Given the description of an element on the screen output the (x, y) to click on. 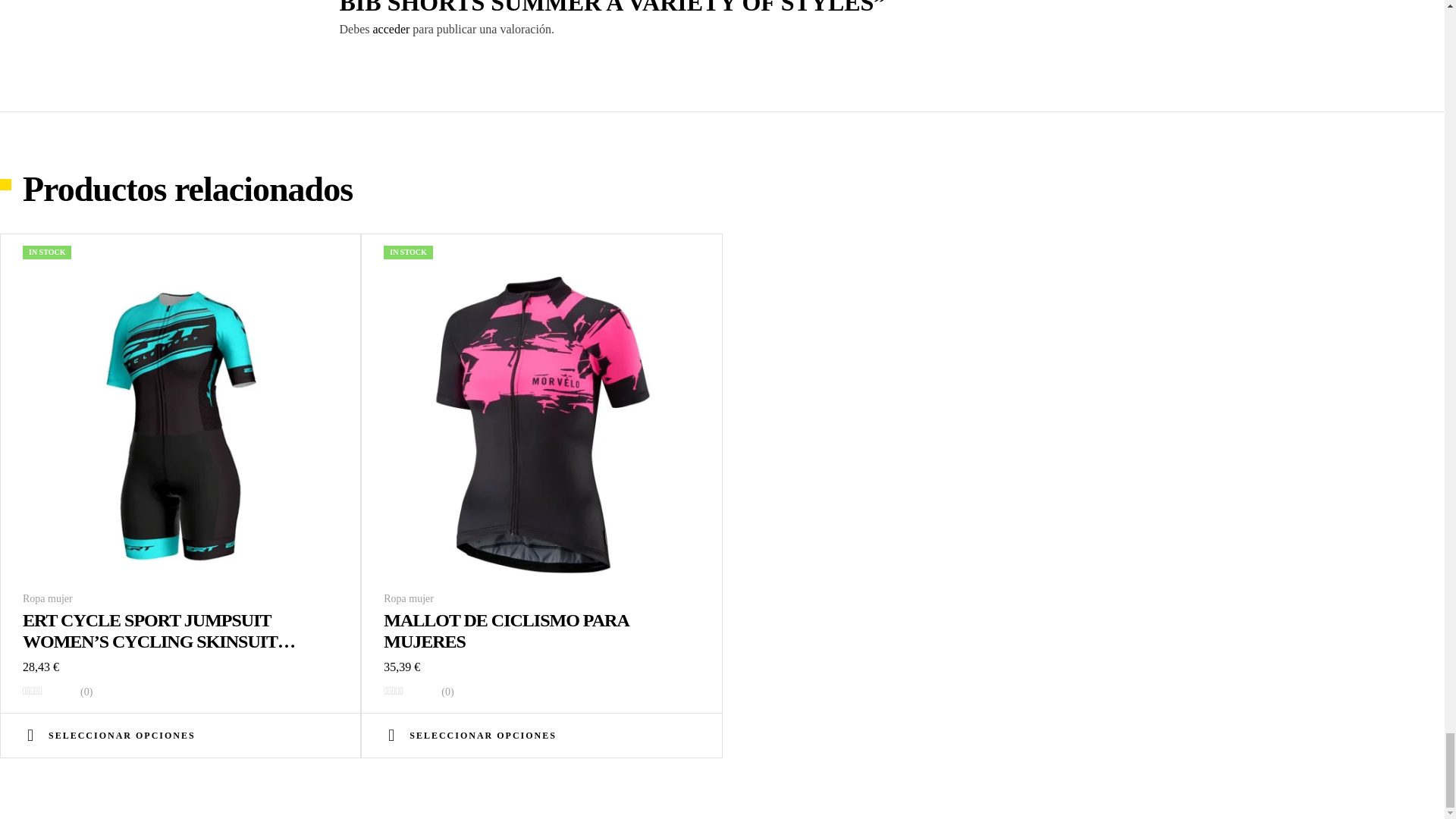
Ropa mujer (47, 598)
acceder (390, 29)
MALLOT DE CICLISMO PARA MUJERES (506, 630)
SELECCIONAR OPCIONES (109, 735)
Ropa mujer (408, 598)
SELECCIONAR OPCIONES (470, 735)
